Given the description of an element on the screen output the (x, y) to click on. 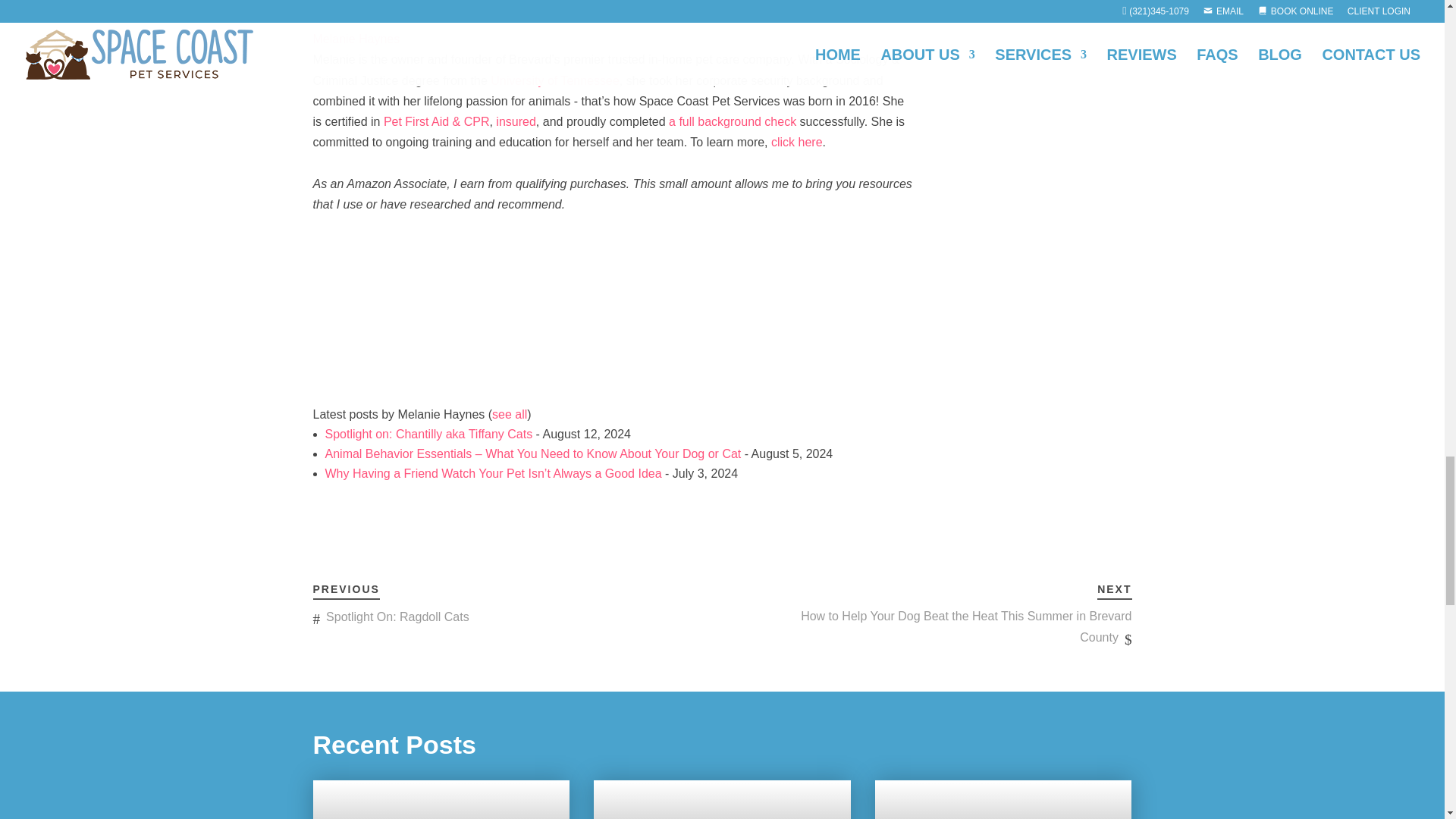
click here (796, 141)
see all (509, 413)
Melanie Haynes (407, 18)
University of Tennessee (555, 80)
a full background check (732, 121)
Melanie Haynes (407, 393)
insured (515, 121)
Melanie Haynes (355, 38)
